Given the description of an element on the screen output the (x, y) to click on. 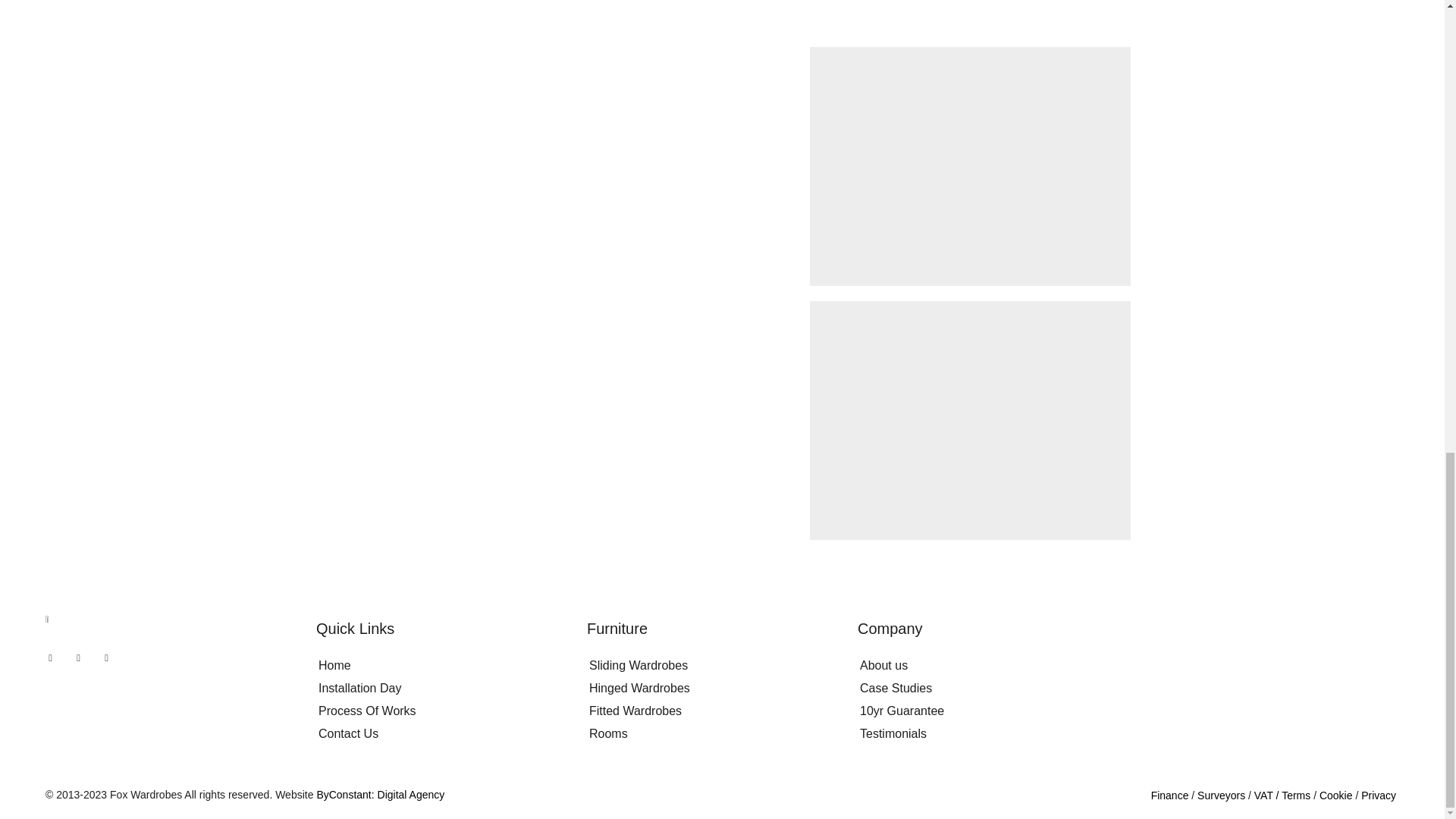
Survey log (1221, 795)
